Given the description of an element on the screen output the (x, y) to click on. 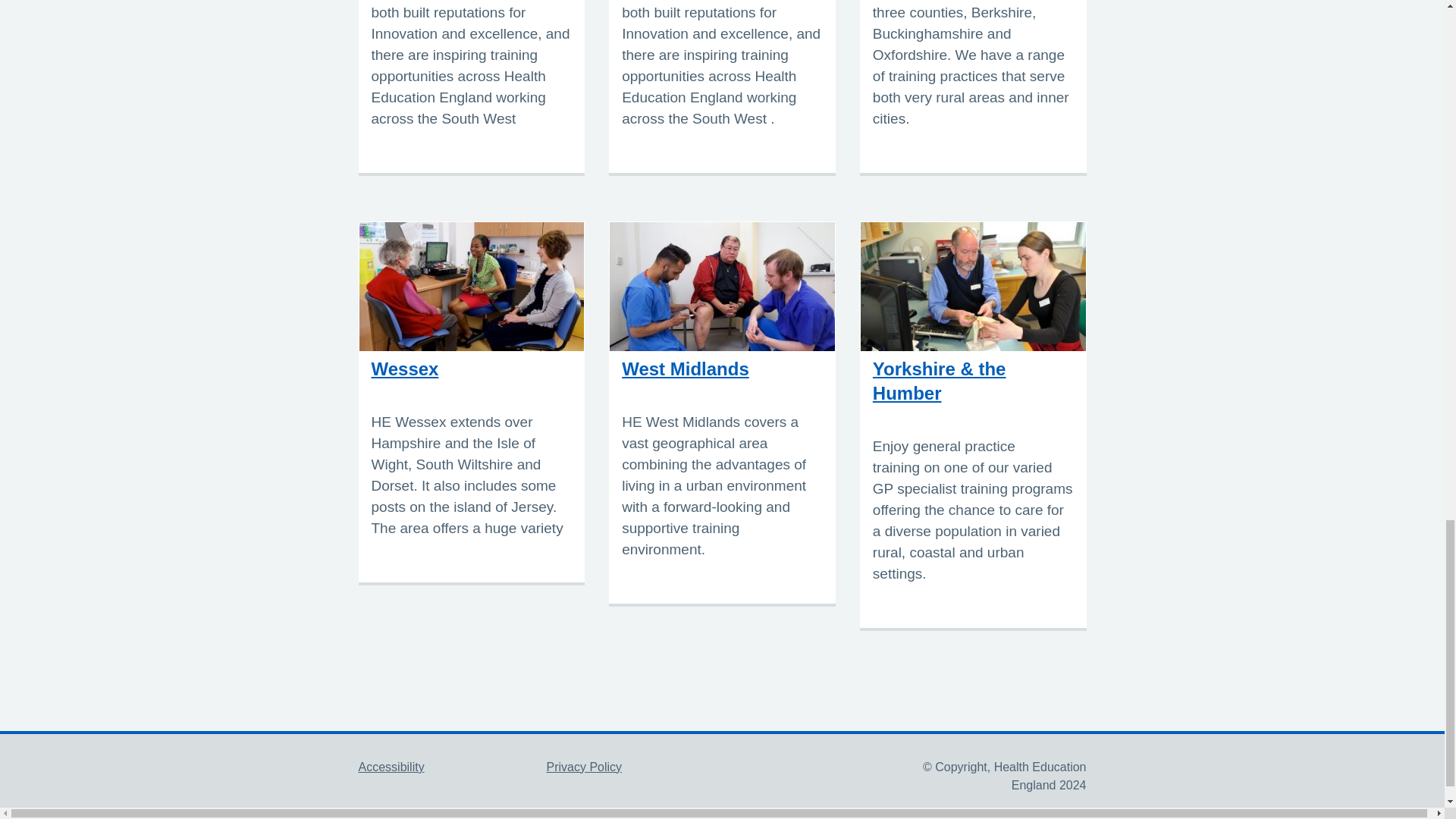
Accessibility (390, 766)
Privacy Policy (583, 766)
